Given the description of an element on the screen output the (x, y) to click on. 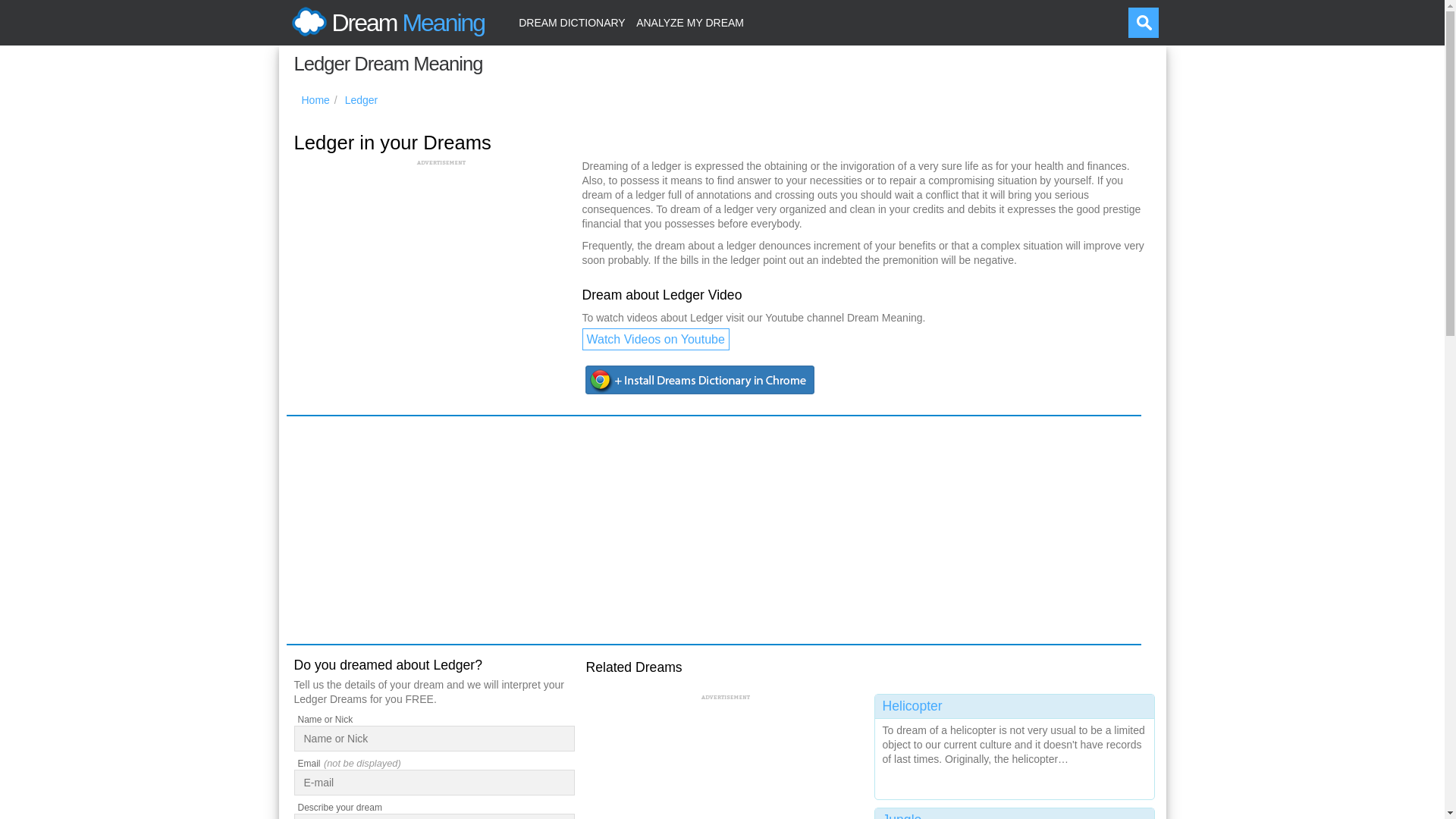
DREAM DICTIONARY (572, 22)
Home (315, 100)
Meat Dream Meaning (1014, 743)
Analyze my Dream (690, 22)
Dreams Meanings, Symbols and Interpretations (315, 100)
Ledger (361, 100)
Install Dreams Dictionary in Chrome (700, 379)
Dreams Interpretation and Meaning (385, 22)
Tribe Dream Meaning (1014, 813)
Dream Meaning Videos (655, 339)
Dream Meaning (385, 22)
Watch Videos on Youtube (655, 339)
Ledger Dreams Interpretations and Meanings Explained (361, 100)
ANALYZE MY DREAM (690, 22)
